Given the description of an element on the screen output the (x, y) to click on. 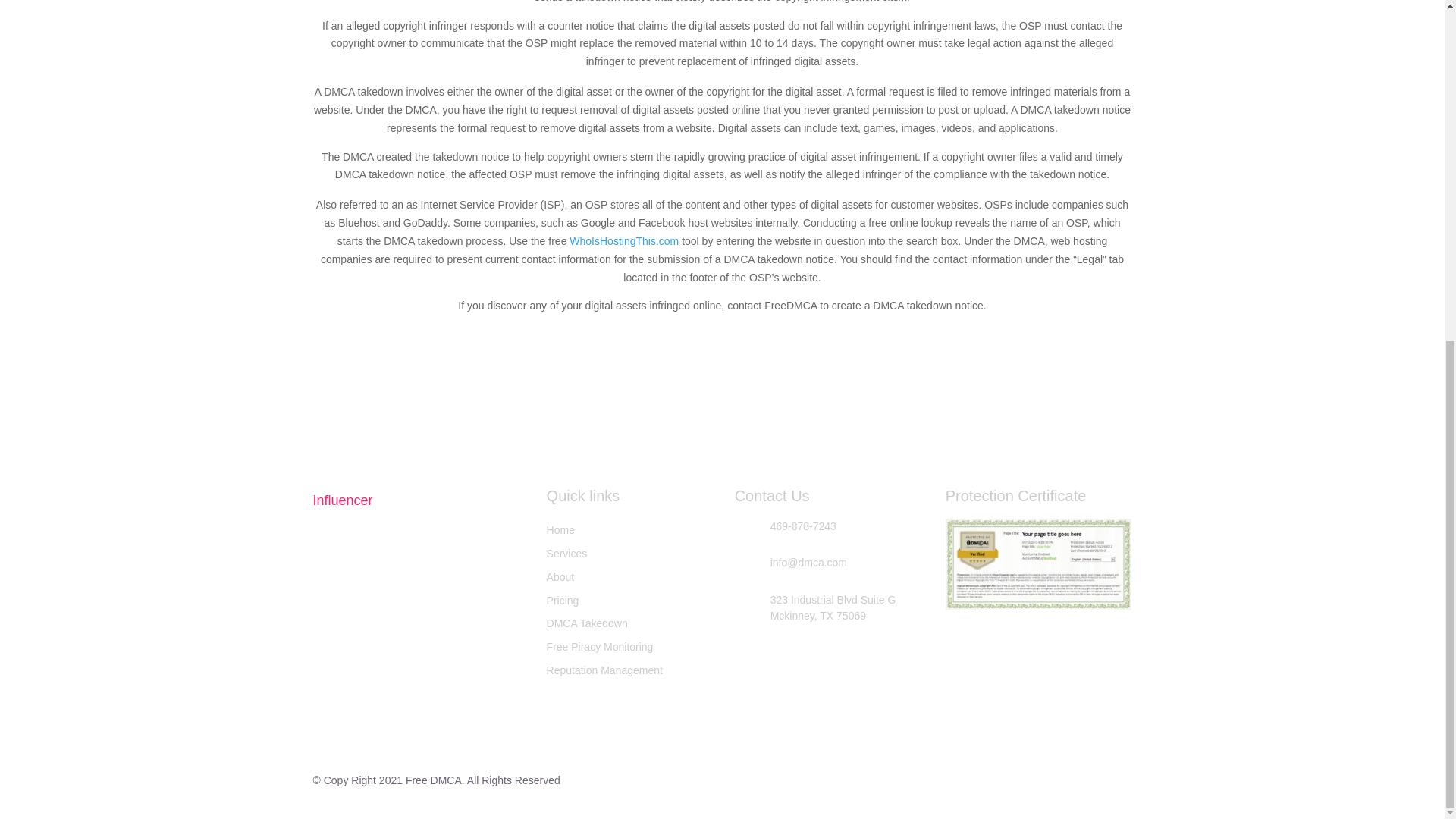
Home (561, 530)
CERT-300x147 (1038, 563)
Reputation Management (604, 670)
Follow on LinkedIn (433, 647)
Follow on Facebook (324, 647)
Follow on Instagram (397, 647)
Services (567, 553)
About (561, 576)
Follow on Twitter (360, 647)
DMCA Takedown (587, 623)
